Given the description of an element on the screen output the (x, y) to click on. 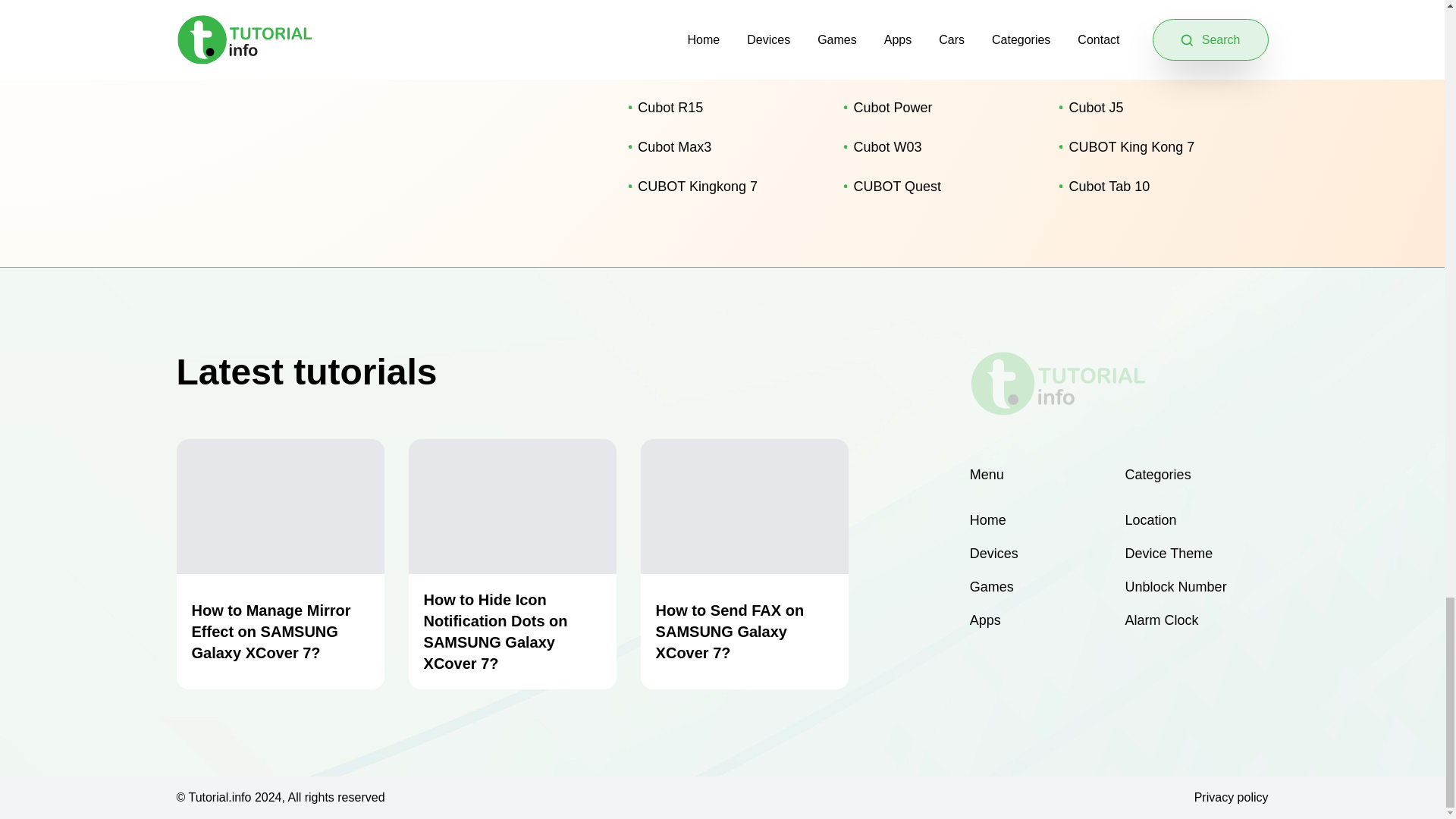
Cubot R15 Pro (938, 28)
Cubot Tab 10 (1154, 186)
Cubot J5 (1154, 107)
Cubot X19 (723, 67)
Cubot Note 7 (723, 28)
Cubot Power (938, 107)
Cubot Max 2 (1154, 67)
Cubot King Kong Mini 2 (1154, 28)
Cubot W03 (938, 147)
Cubot R15 (723, 107)
CUBOT Kingkong 7 (723, 186)
CUBOT King Kong 7 (1154, 147)
Cubot P40 (938, 67)
Cubot Max3 (723, 147)
